Given the description of an element on the screen output the (x, y) to click on. 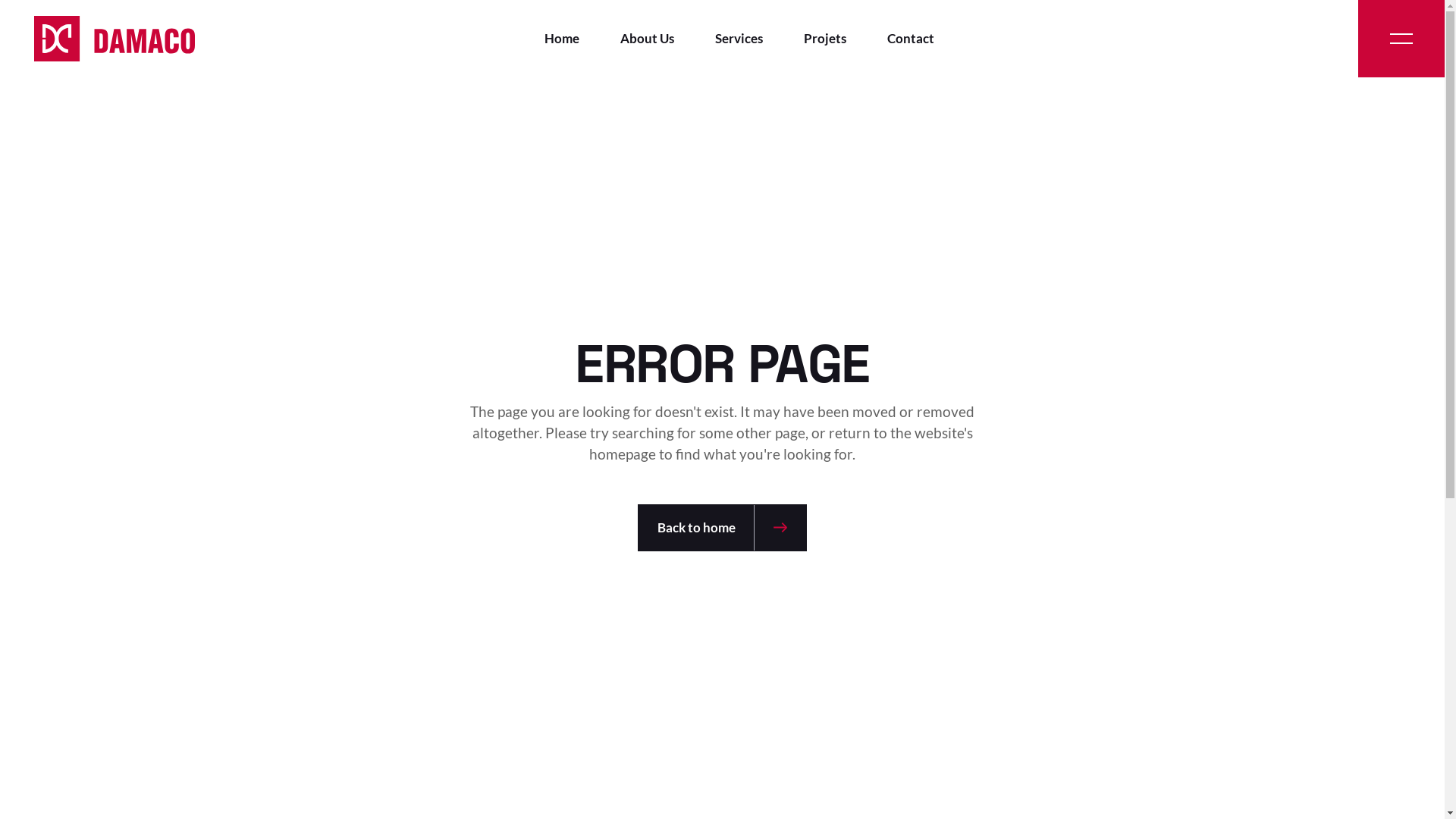
About Us Element type: text (647, 38)
Home Element type: text (561, 38)
Services Element type: text (738, 38)
Contact Element type: text (910, 38)
Projets Element type: text (824, 38)
Back to home Element type: text (721, 527)
